Given the description of an element on the screen output the (x, y) to click on. 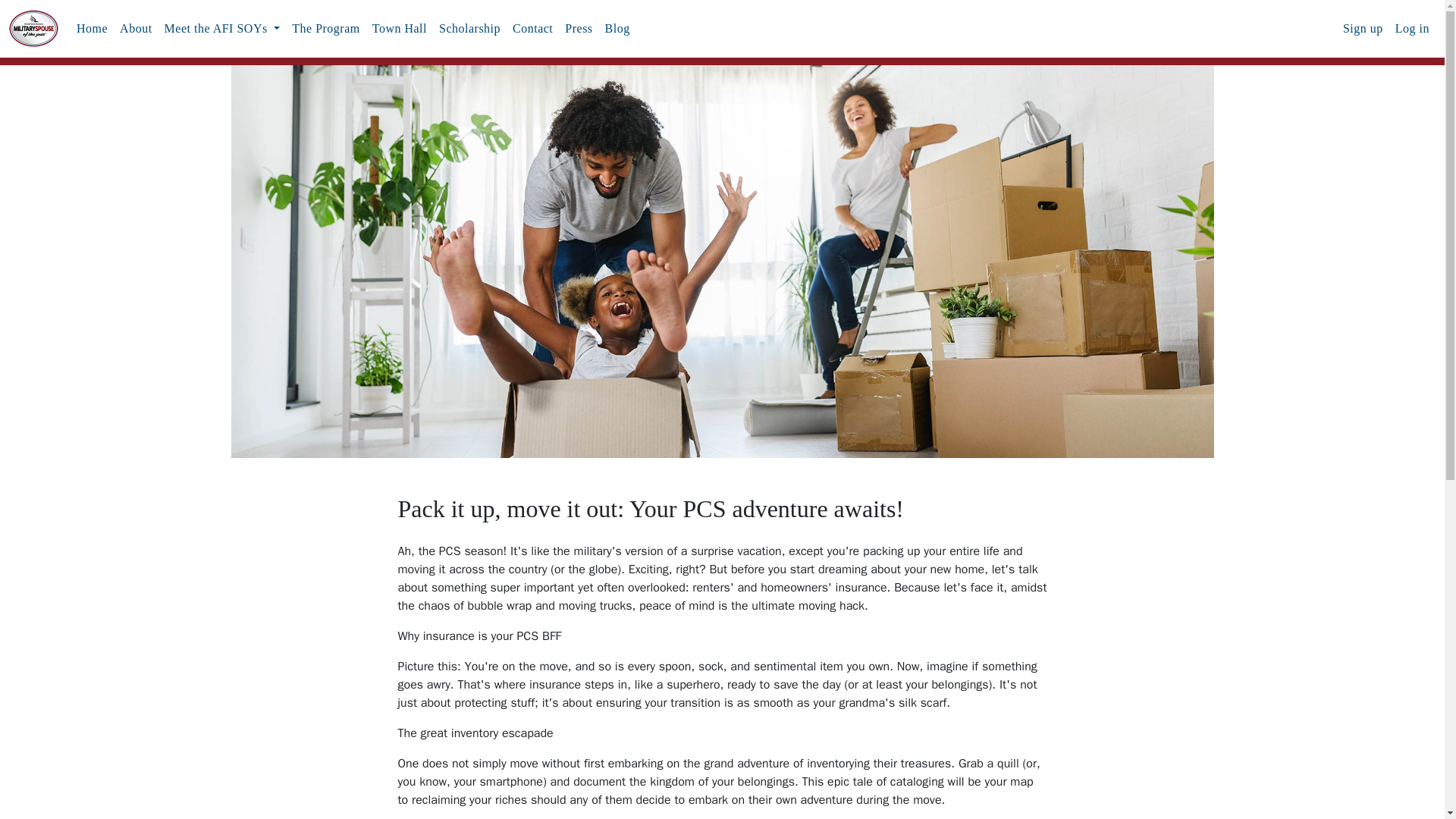
Log in (1412, 28)
Press (578, 28)
The Program (325, 28)
Meet the AFI SOYs (222, 28)
About (135, 28)
Scholarship (469, 28)
Blog (617, 28)
Home (91, 28)
Town Hall (399, 28)
Contact (532, 28)
